Given the description of an element on the screen output the (x, y) to click on. 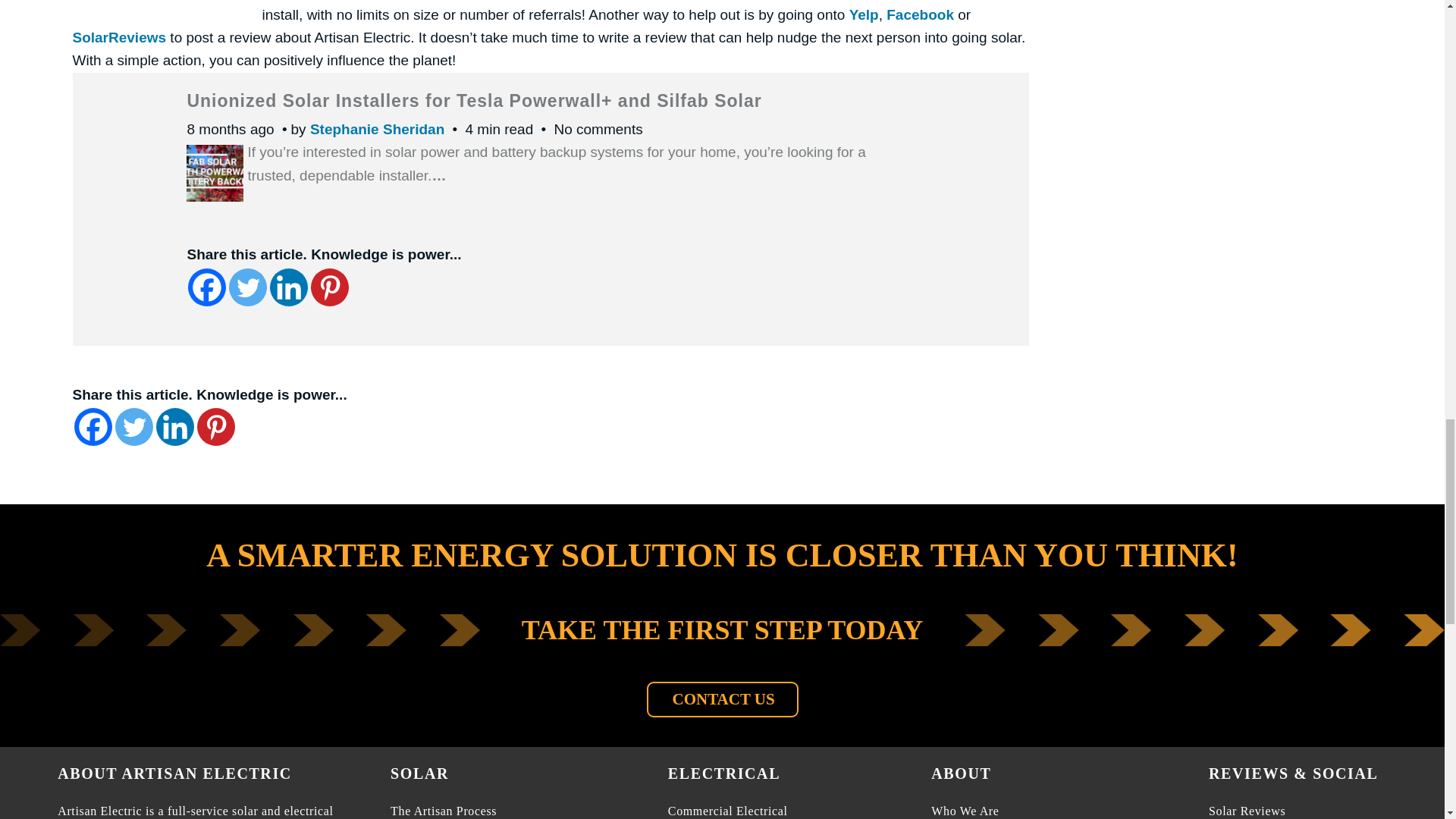
Twitter (133, 426)
Pinterest (215, 426)
Pinterest (330, 287)
Linkedin (174, 426)
Facebook (93, 426)
Facebook (206, 287)
Twitter (247, 287)
Linkedin (288, 287)
